Given the description of an element on the screen output the (x, y) to click on. 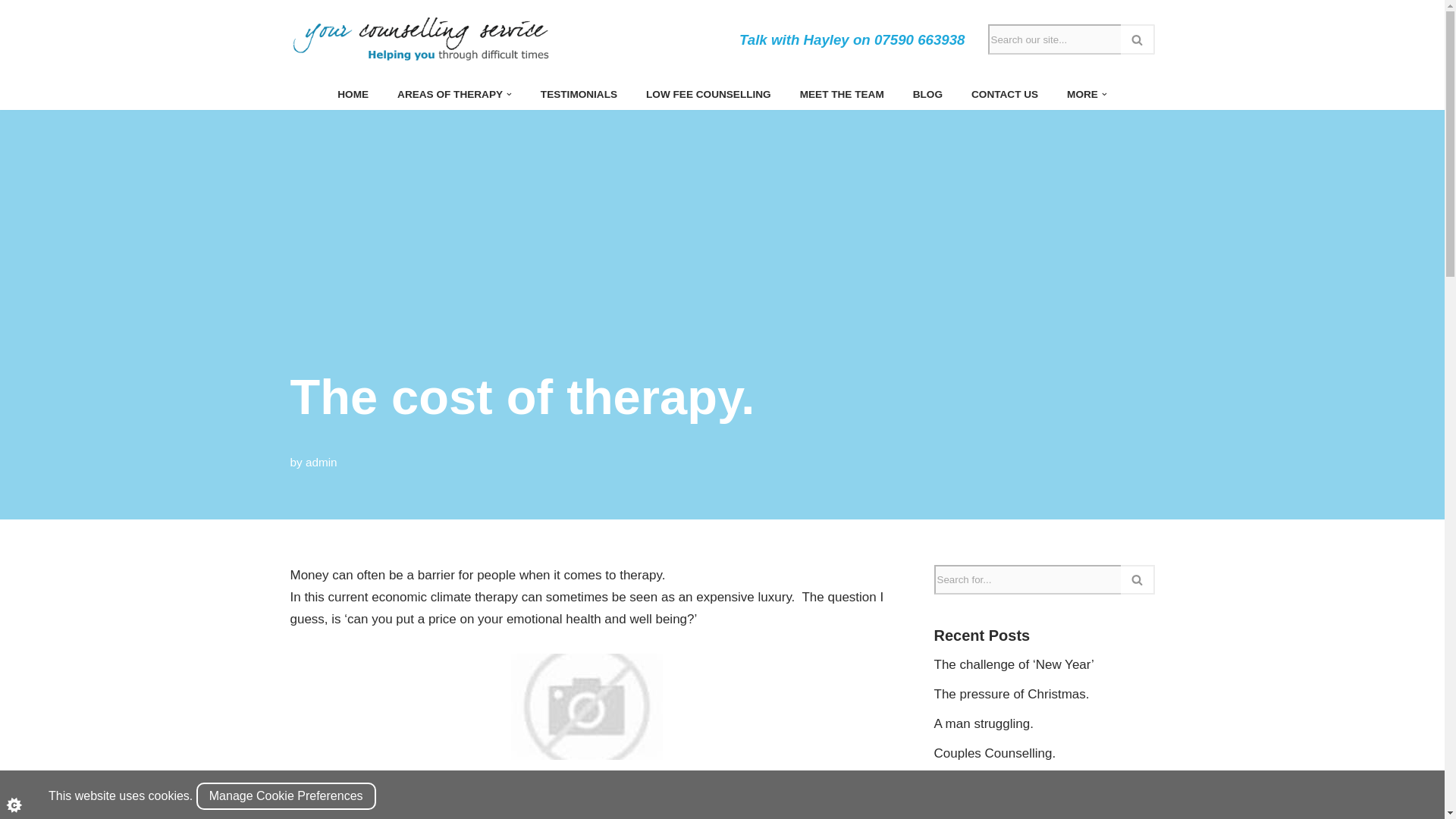
TESTIMONIALS (578, 94)
Talk with Hayley on 07590 663938 (851, 39)
CONTACT US (1004, 94)
BLOG (927, 94)
MORE (1082, 94)
MEET THE TEAM (841, 94)
Skip to content (11, 31)
LOW FEE COUNSELLING (708, 94)
Posts by admin (321, 461)
AREAS OF THERAPY (449, 94)
